Given the description of an element on the screen output the (x, y) to click on. 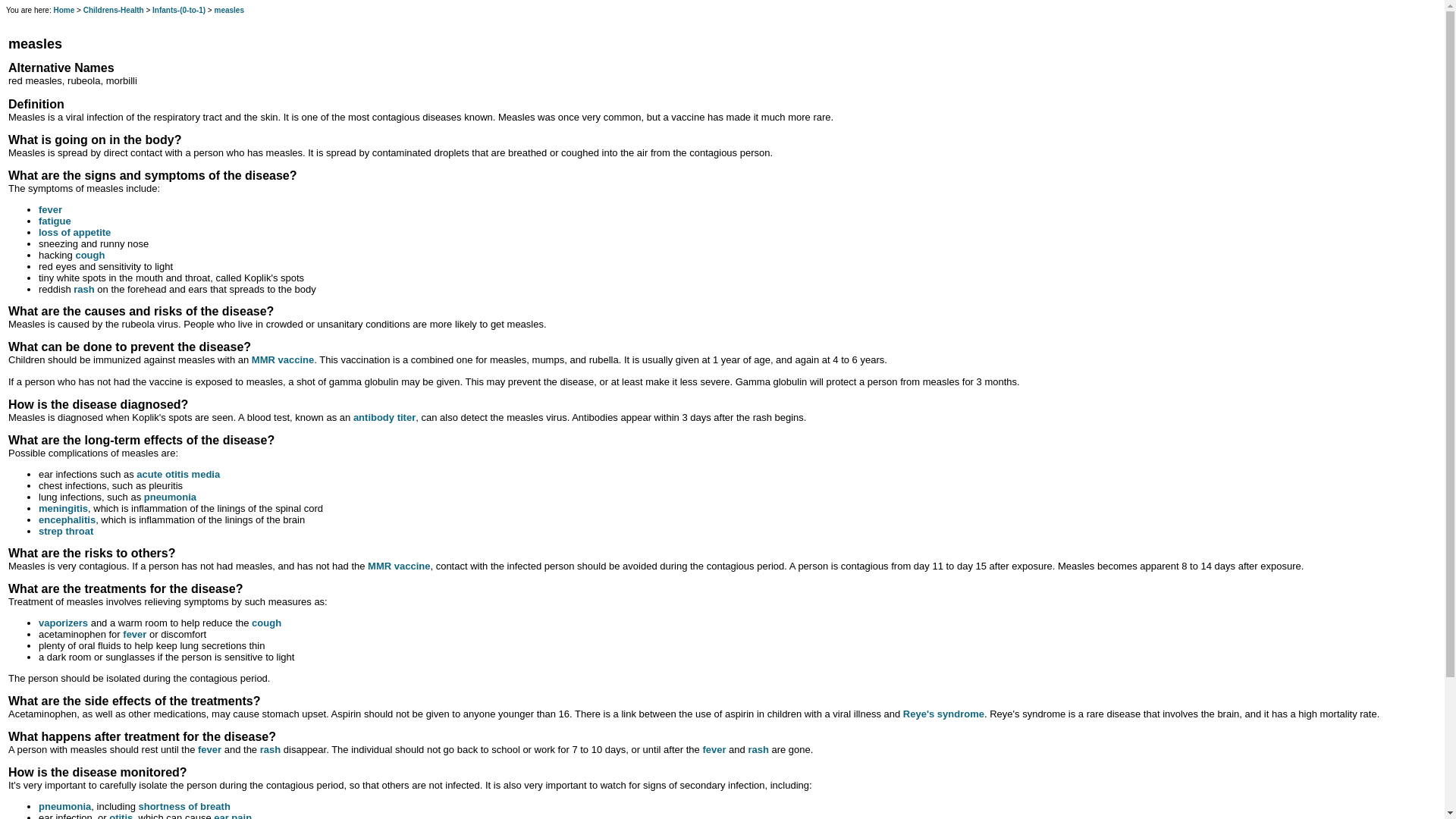
Home (63, 9)
Reye's syndrome (943, 713)
shortness of breath (184, 806)
fever (134, 633)
Loss of appetite (74, 232)
fever (713, 749)
otitis (120, 815)
meningitis in infants and children (63, 508)
fatigue (55, 220)
cough (89, 255)
